Given the description of an element on the screen output the (x, y) to click on. 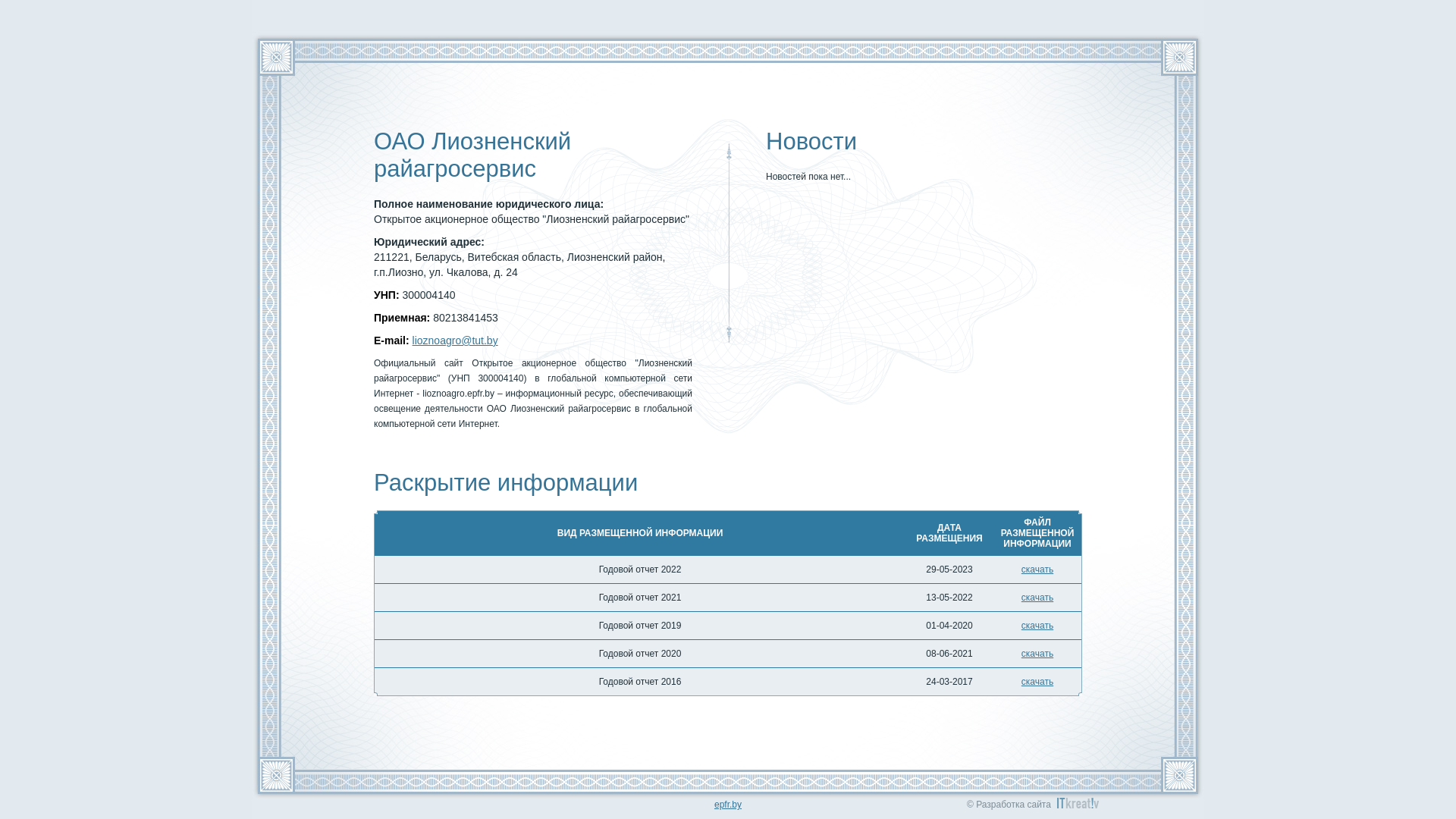
epfr.by Element type: text (727, 804)
lioznoagro@tut.by Element type: text (455, 340)
